Given the description of an element on the screen output the (x, y) to click on. 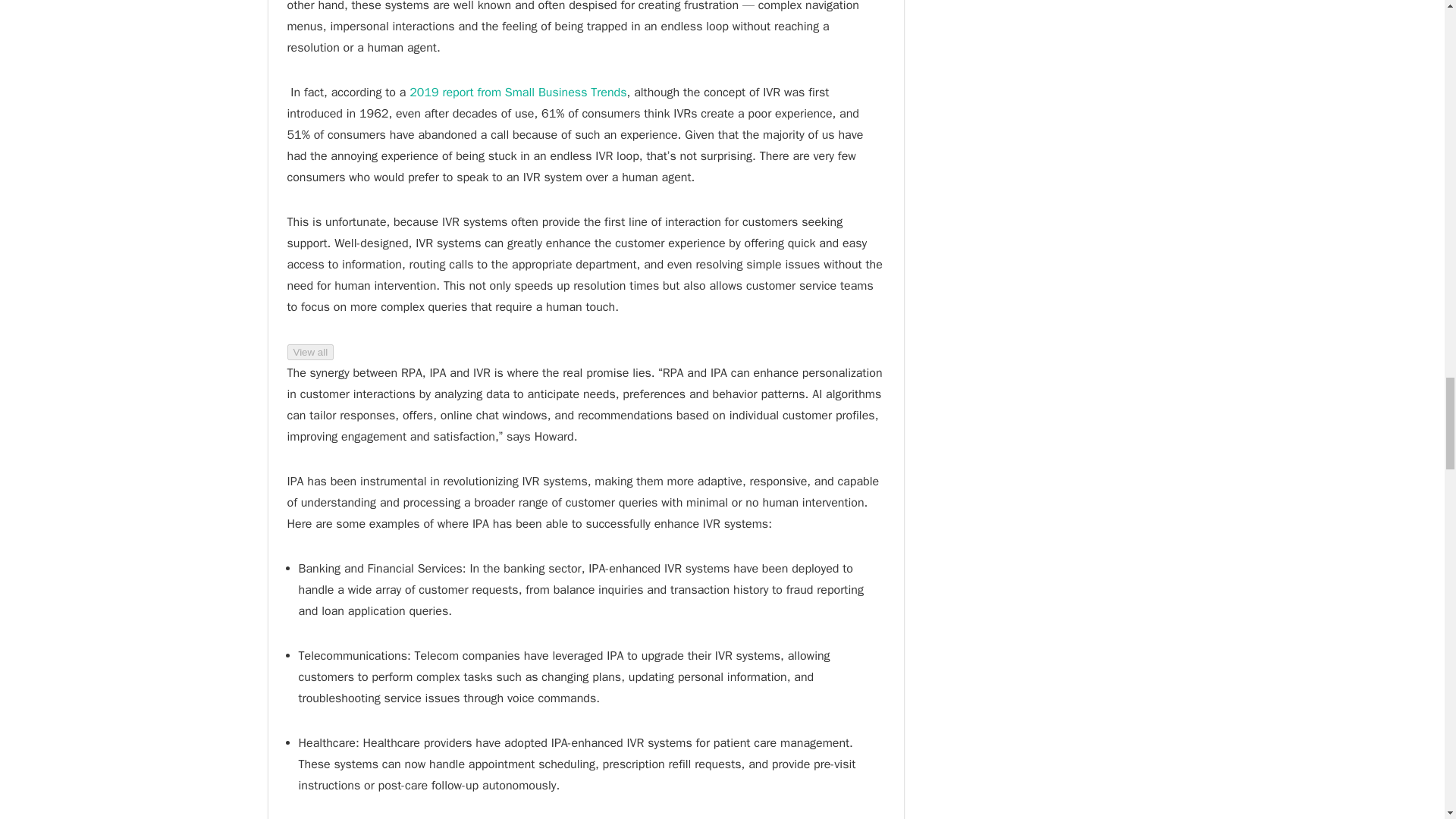
View all (309, 351)
2019 report from Small Business Trends (517, 92)
2019 report from Small Business Trends (517, 92)
